Given the description of an element on the screen output the (x, y) to click on. 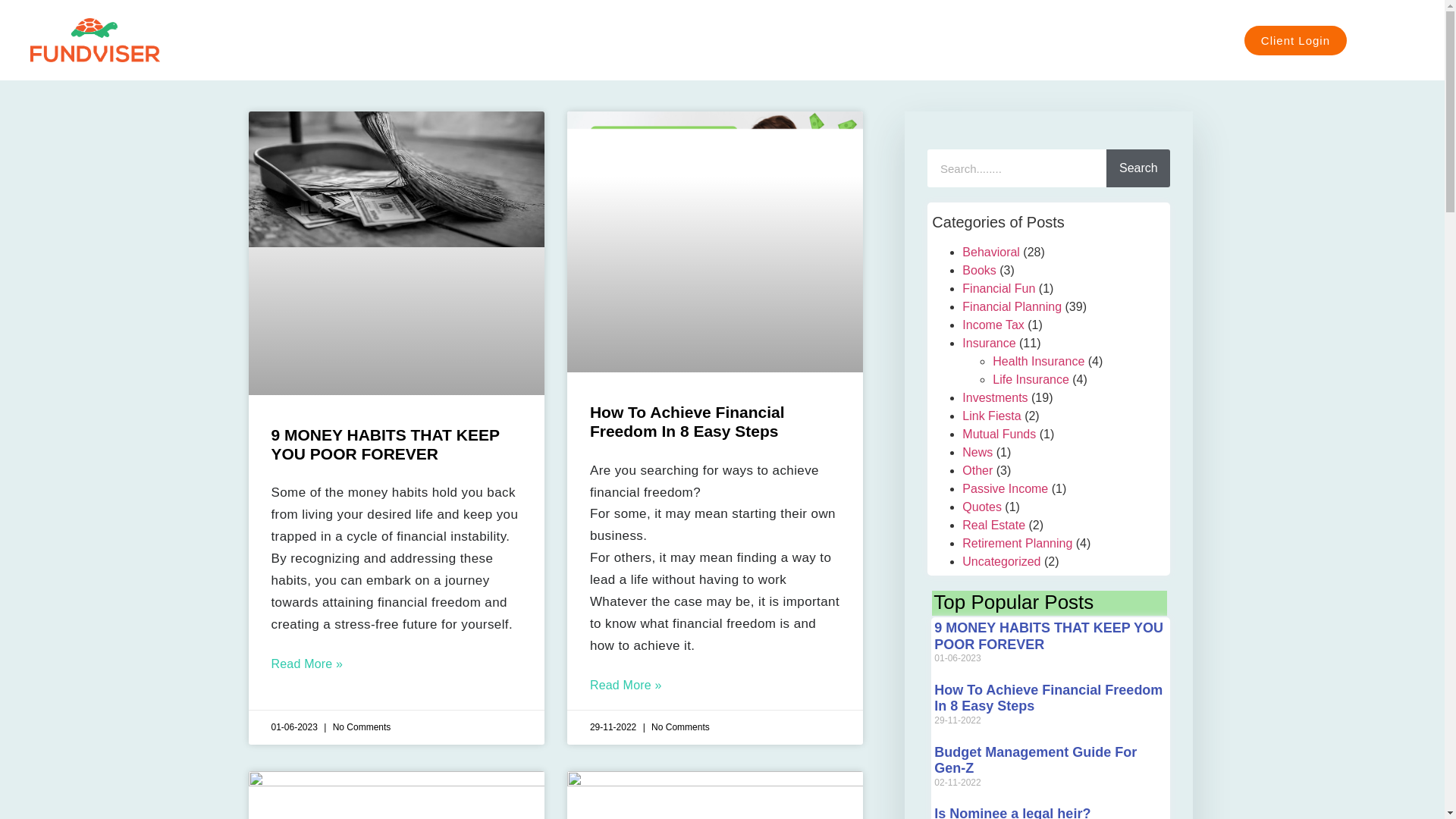
Home (920, 39)
9 MONEY HABITS THAT KEEP YOU POOR FOREVER (384, 443)
Blog (1068, 39)
Services (996, 39)
contact (1135, 39)
Client Login (1295, 40)
How To Achieve Financial Freedom In 8 Easy Steps (686, 421)
